Given the description of an element on the screen output the (x, y) to click on. 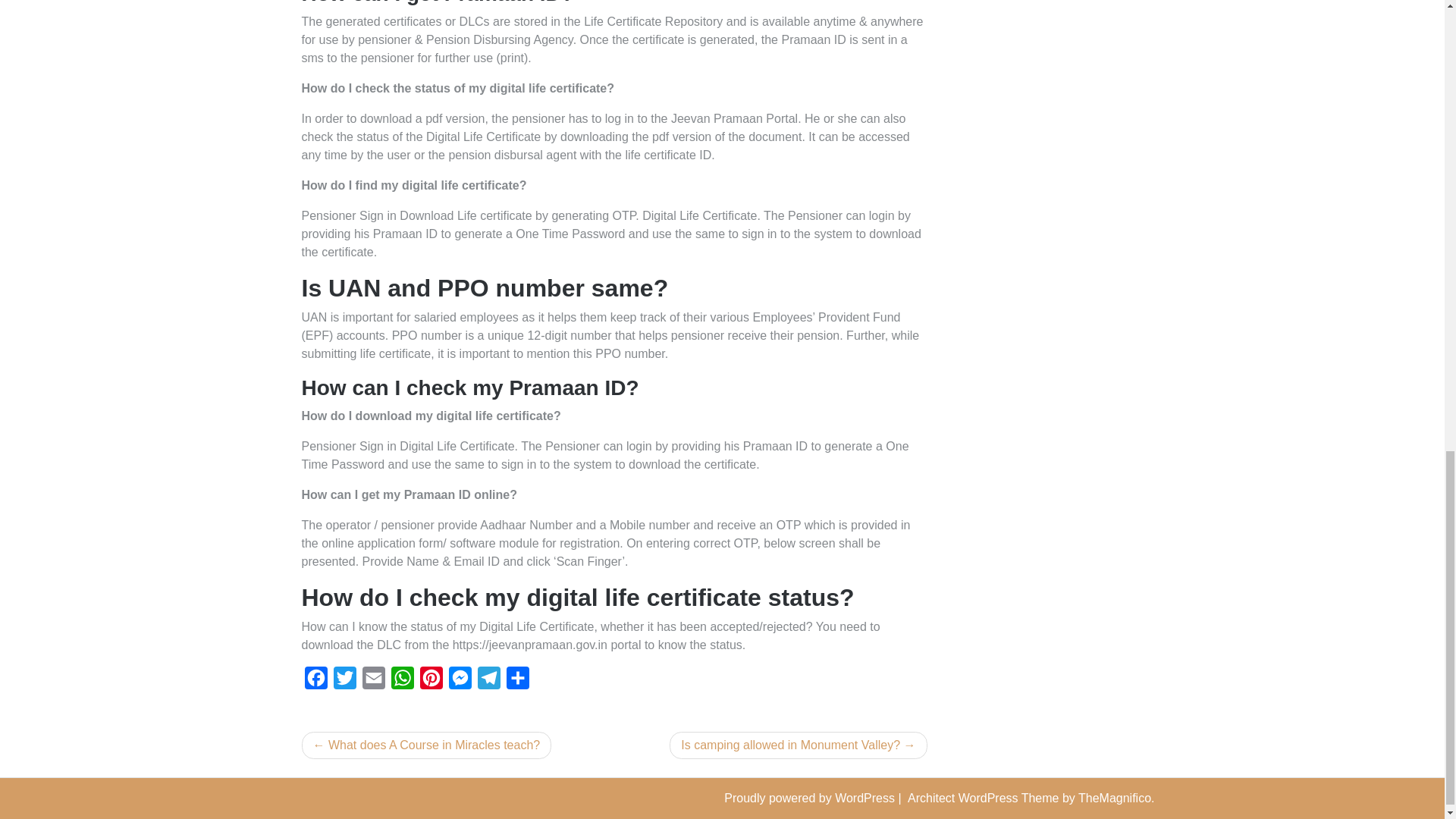
Share (517, 681)
Email (373, 681)
Email (373, 681)
Pinterest (430, 681)
WhatsApp (402, 681)
What does A Course in Miracles teach? (426, 745)
Twitter (344, 681)
Telegram (488, 681)
Telegram (488, 681)
Pinterest (430, 681)
Messenger (459, 681)
WhatsApp (402, 681)
Facebook (315, 681)
Facebook (315, 681)
Is camping allowed in Monument Valley? (797, 745)
